Given the description of an element on the screen output the (x, y) to click on. 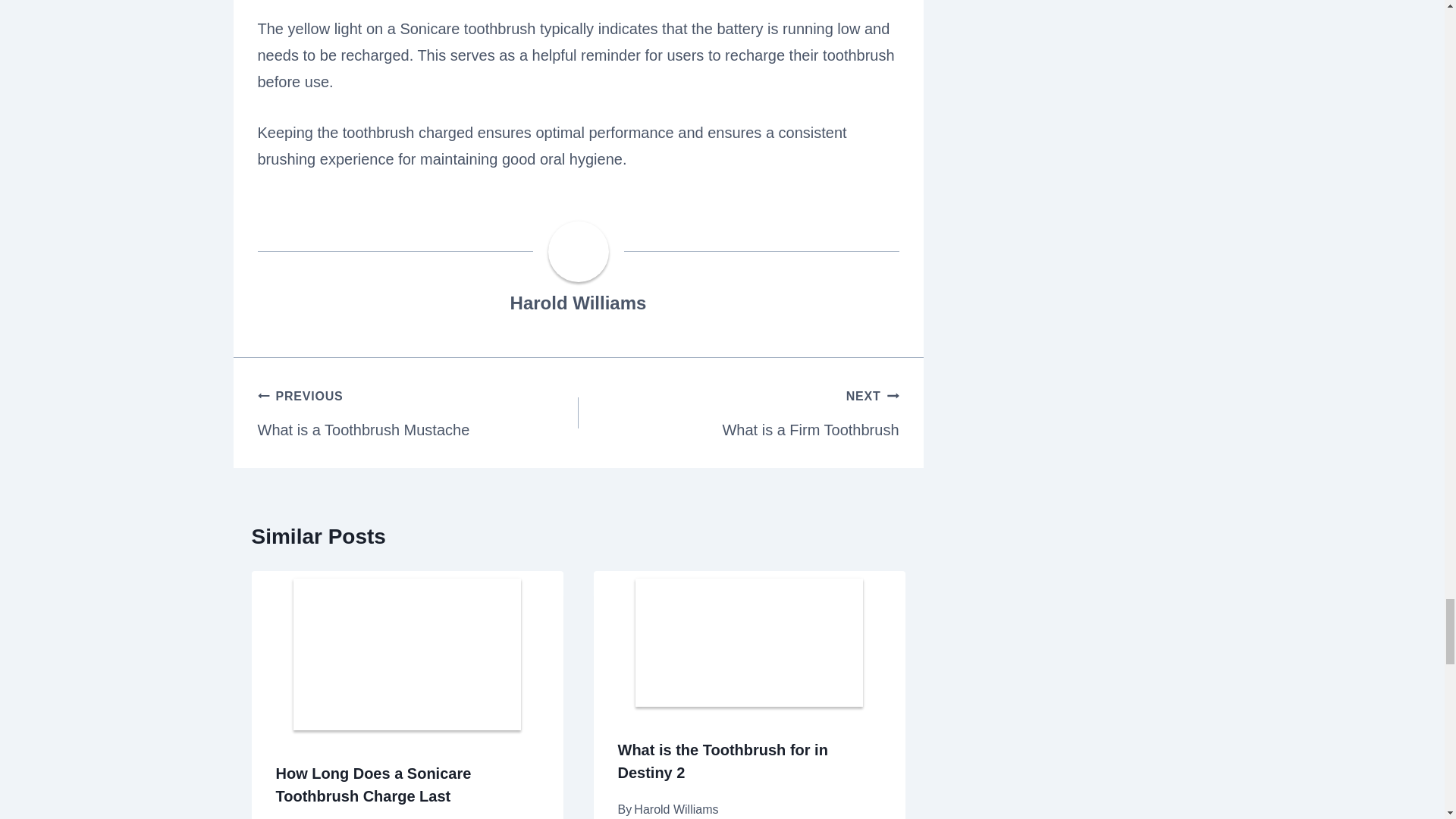
How Long Does a Sonicare Toothbrush Charge Last (417, 412)
Posts by Harold Williams (738, 412)
Harold Williams (373, 784)
